Given the description of an element on the screen output the (x, y) to click on. 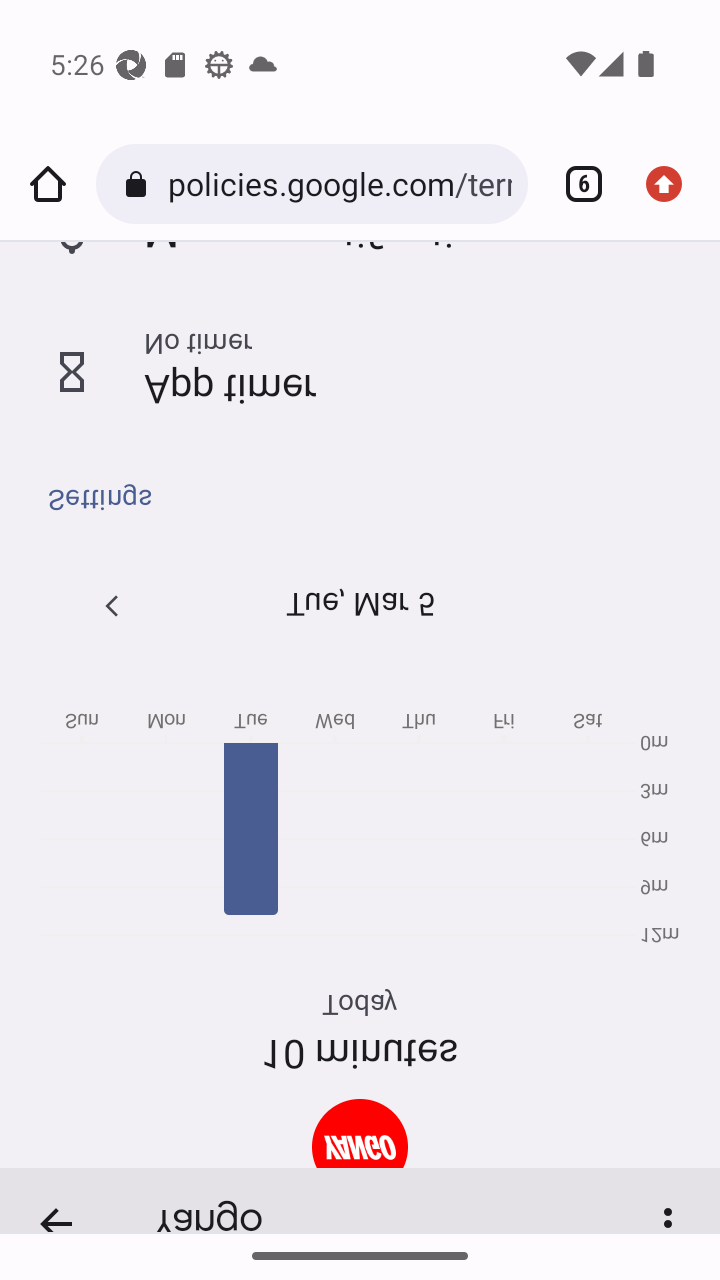
Home (47, 184)
Connection is secure (139, 184)
Switch or close tabs (575, 184)
Update available. More options (672, 184)
policies.google.com/terms (339, 184)
